Given the description of an element on the screen output the (x, y) to click on. 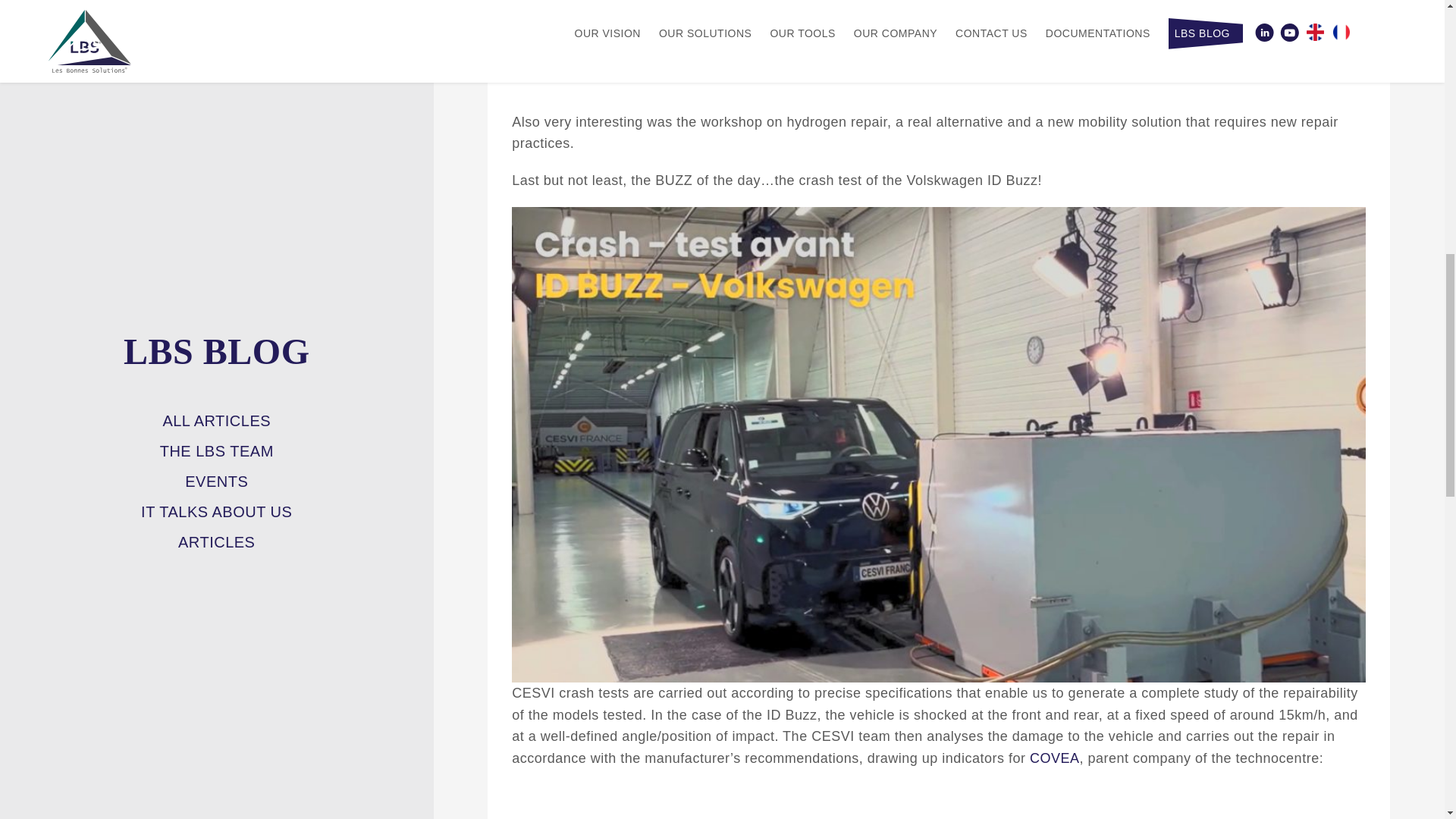
COVEA (1054, 758)
